Given the description of an element on the screen output the (x, y) to click on. 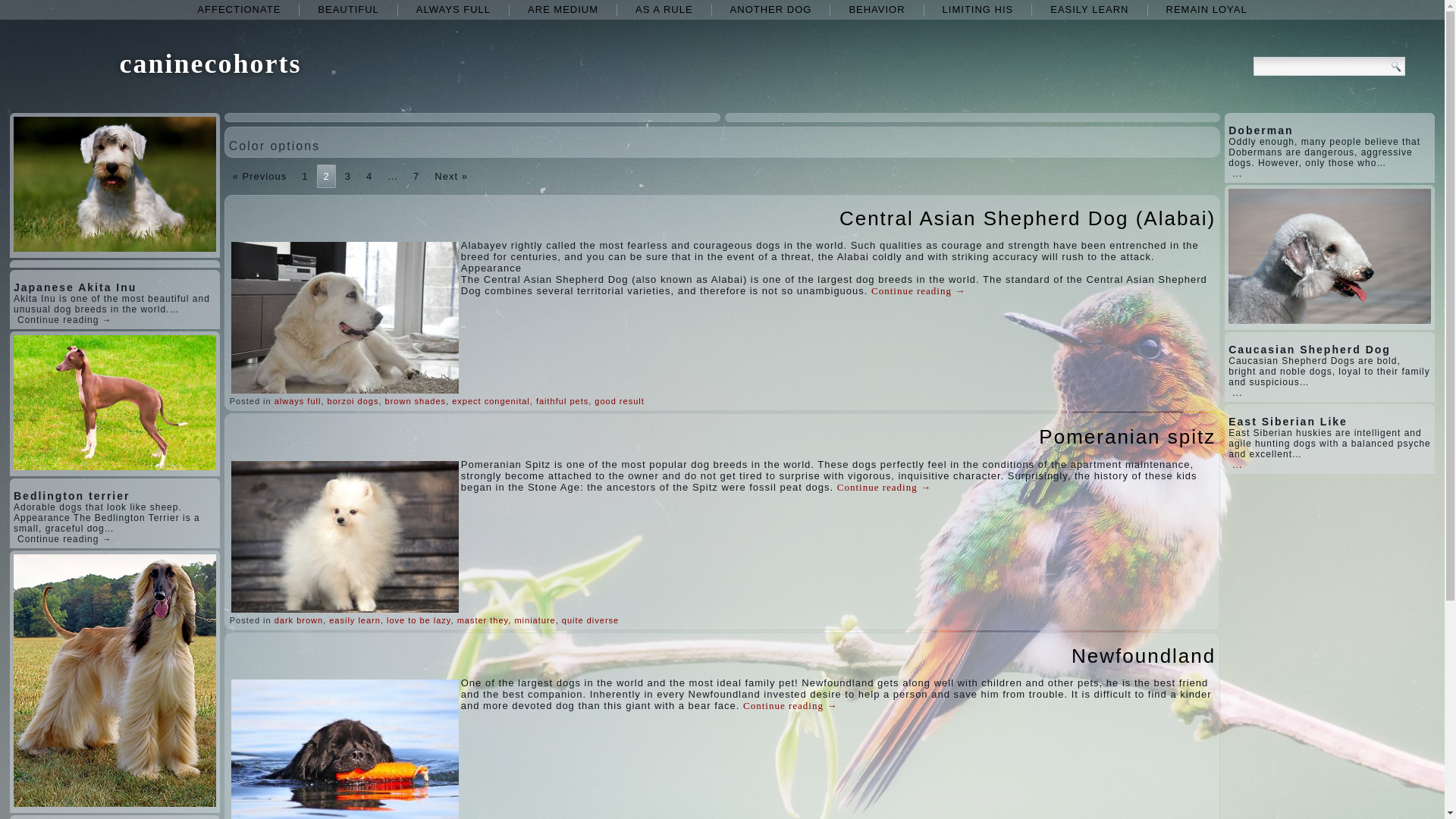
faithful pets (561, 400)
good result (618, 400)
limiting his (978, 9)
REMAIN LOYAL (1206, 9)
affectionate (238, 9)
AFFECTIONATE (238, 9)
EASILY LEARN (1088, 9)
LIMITING HIS (978, 9)
Newfoundland (1143, 655)
ARE MEDIUM (562, 9)
